Given the description of an element on the screen output the (x, y) to click on. 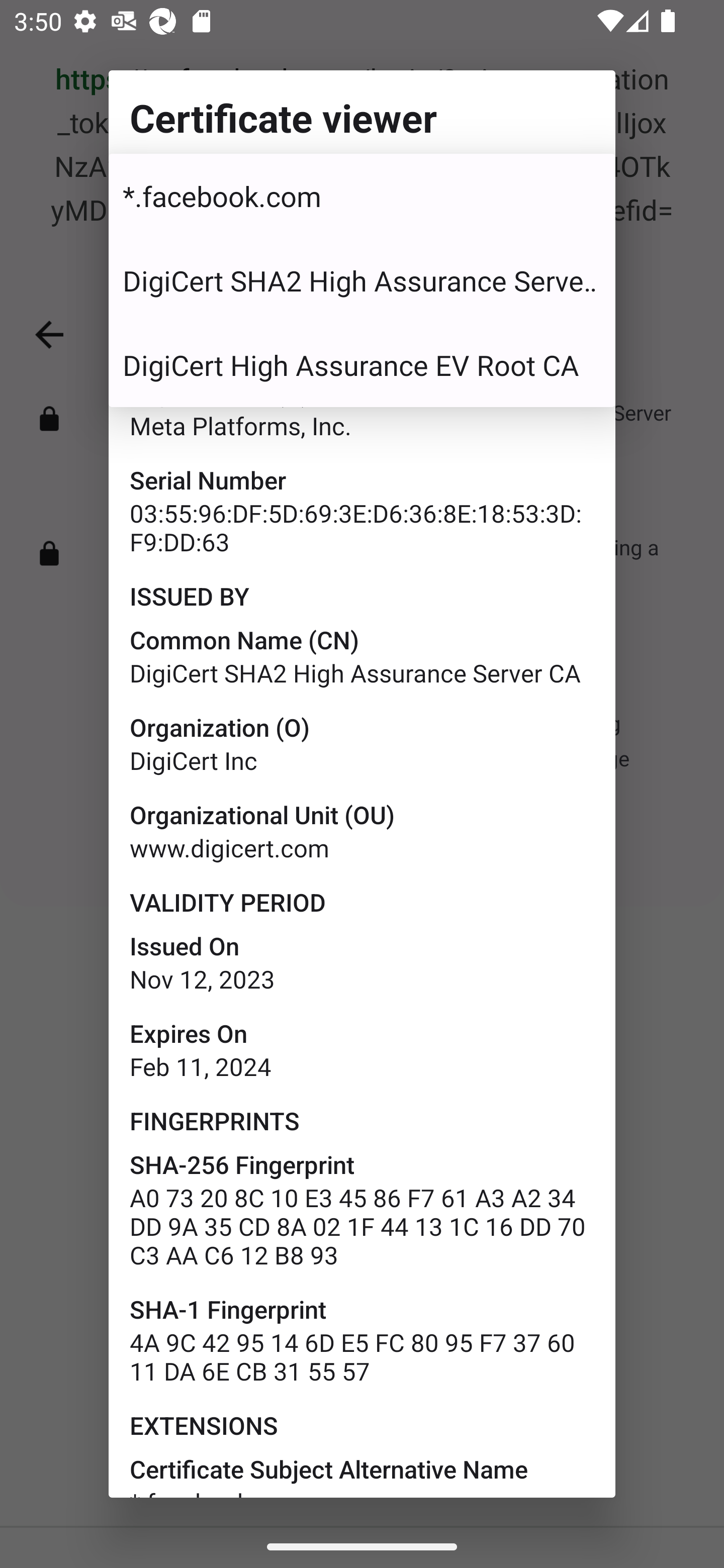
*.facebook.com (361, 195)
DigiCert SHA2 High Assurance Server CA (361, 280)
DigiCert High Assurance EV Root CA (361, 365)
